Given the description of an element on the screen output the (x, y) to click on. 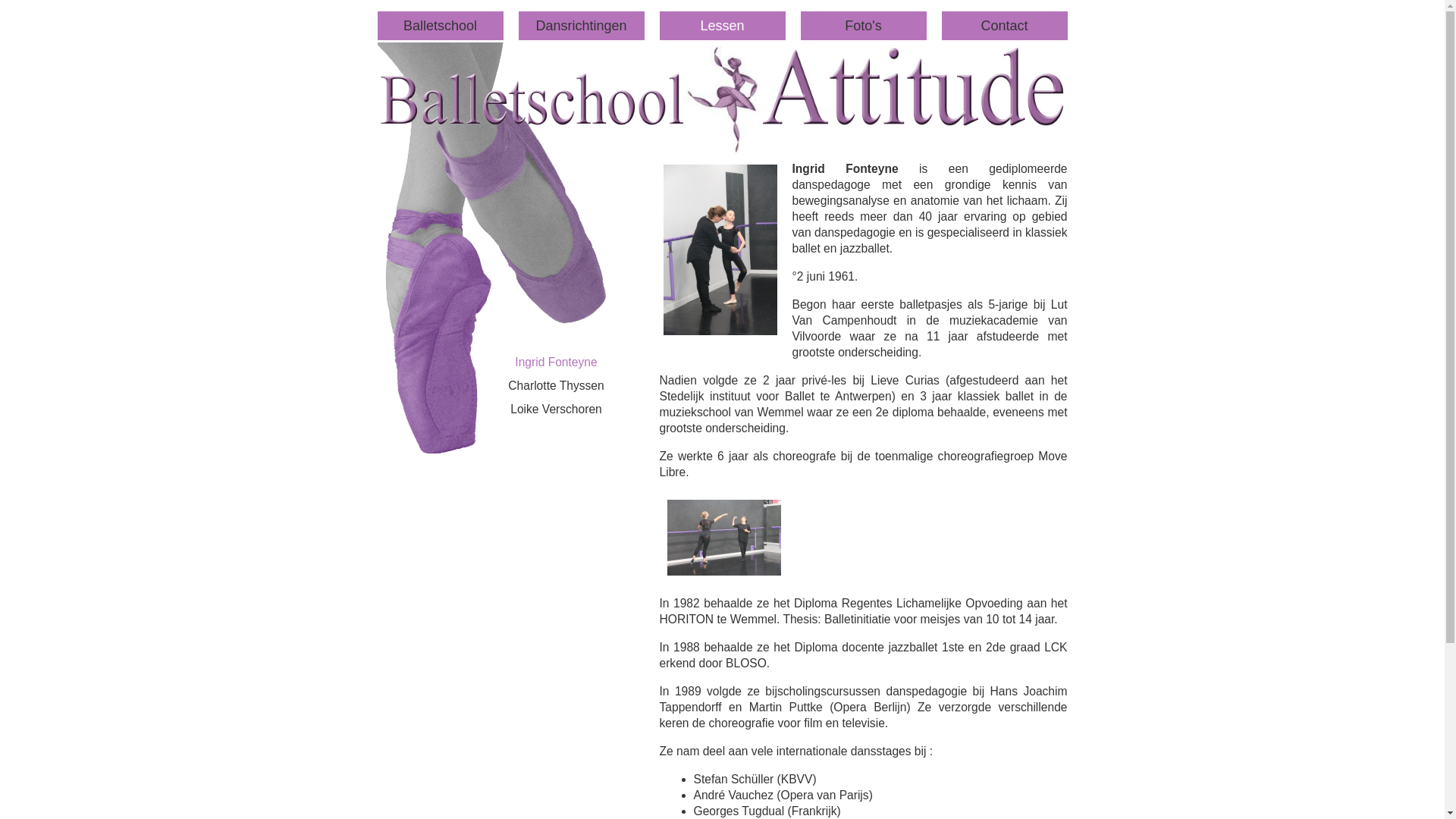
Balletschool Element type: text (440, 25)
Dansrichtingen Element type: text (581, 25)
Charlotte Thyssen Element type: text (555, 385)
Loike Verschoren Element type: text (556, 408)
Ingrid Fonteyne Element type: text (555, 361)
Foto's Element type: text (863, 25)
Lessen Element type: text (722, 25)
Contact Element type: text (1004, 25)
